Given the description of an element on the screen output the (x, y) to click on. 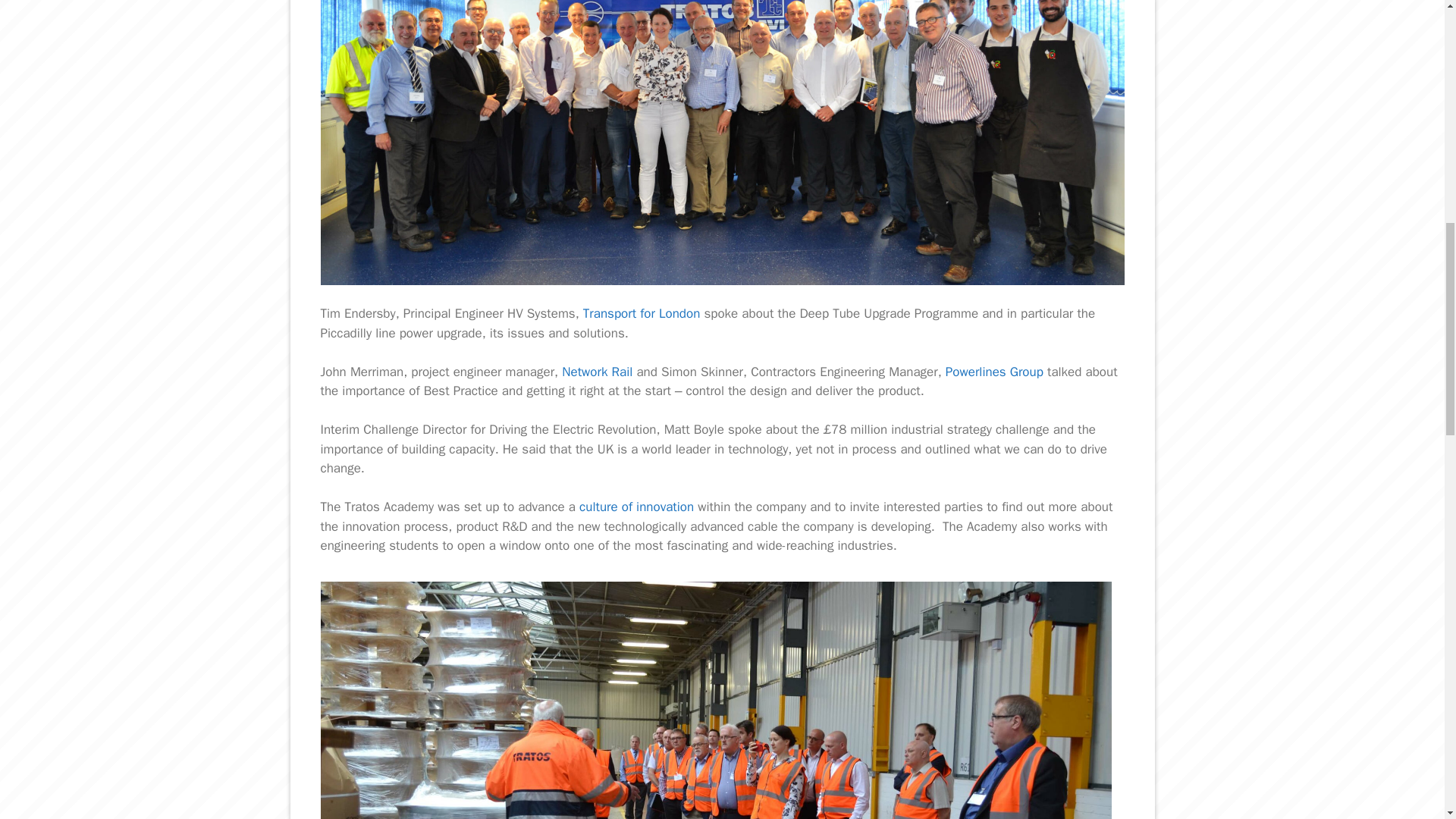
Scroll back to top (1406, 720)
